Given the description of an element on the screen output the (x, y) to click on. 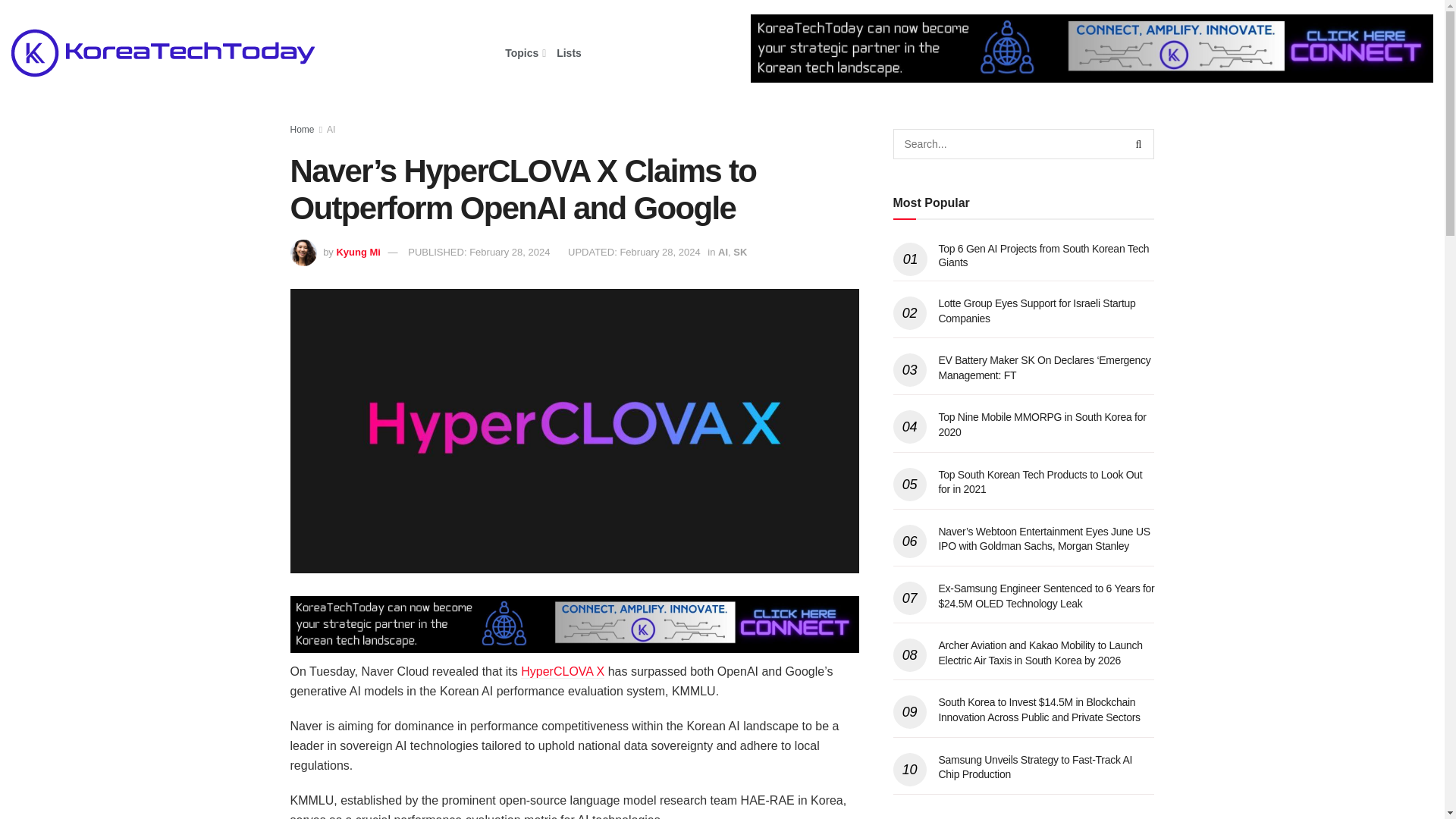
Topics (524, 53)
